Given the description of an element on the screen output the (x, y) to click on. 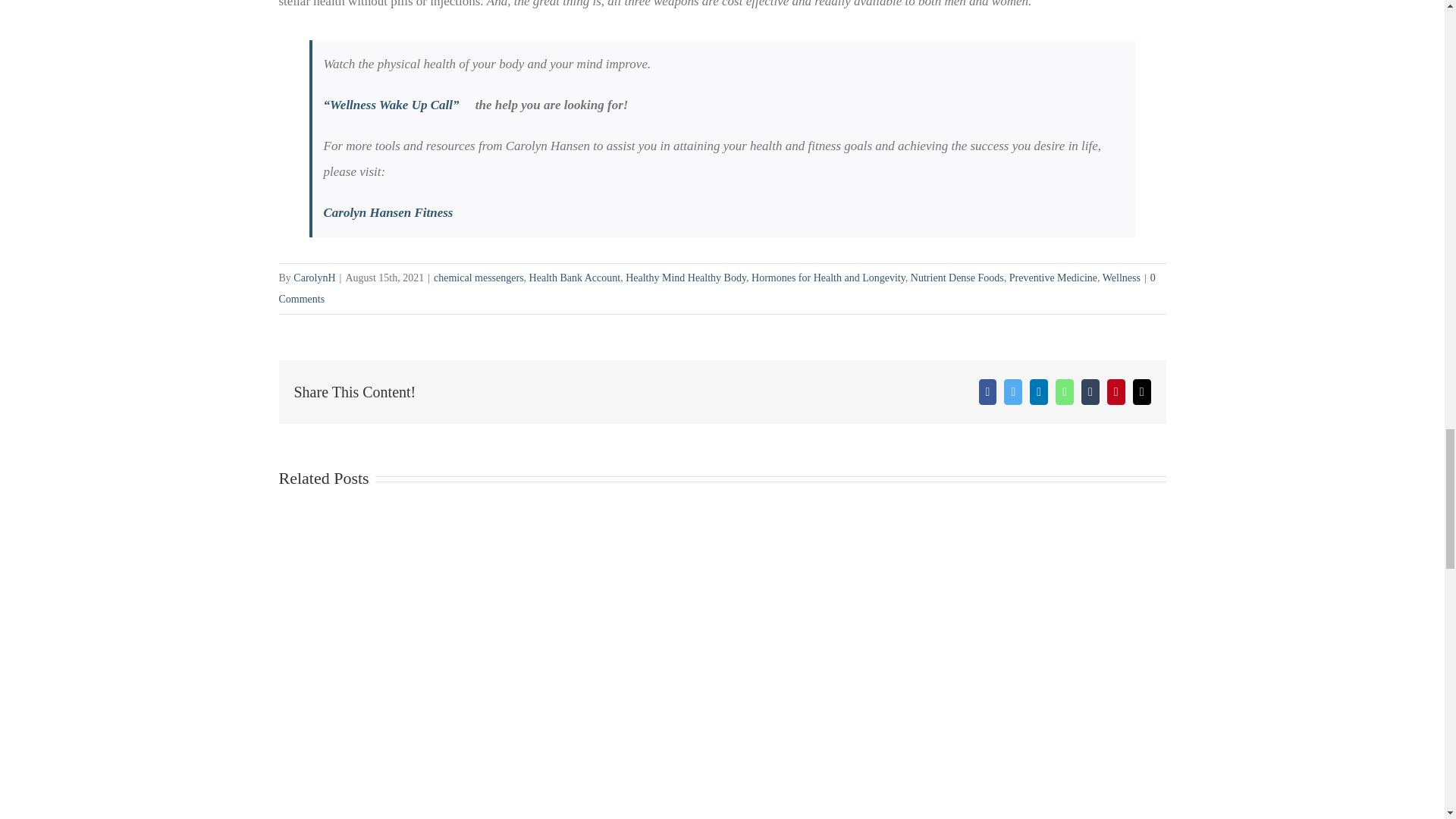
Nutrient Dense Foods (957, 277)
Healthy Mind Healthy Body (685, 277)
Posts by CarolynH (314, 277)
Health Bank Account (575, 277)
Carolyn Hansen Fitness (387, 212)
0 Comments (717, 287)
Wellness (1121, 277)
chemical messengers (478, 277)
CarolynH (314, 277)
Preventive Medicine (1053, 277)
